Given the description of an element on the screen output the (x, y) to click on. 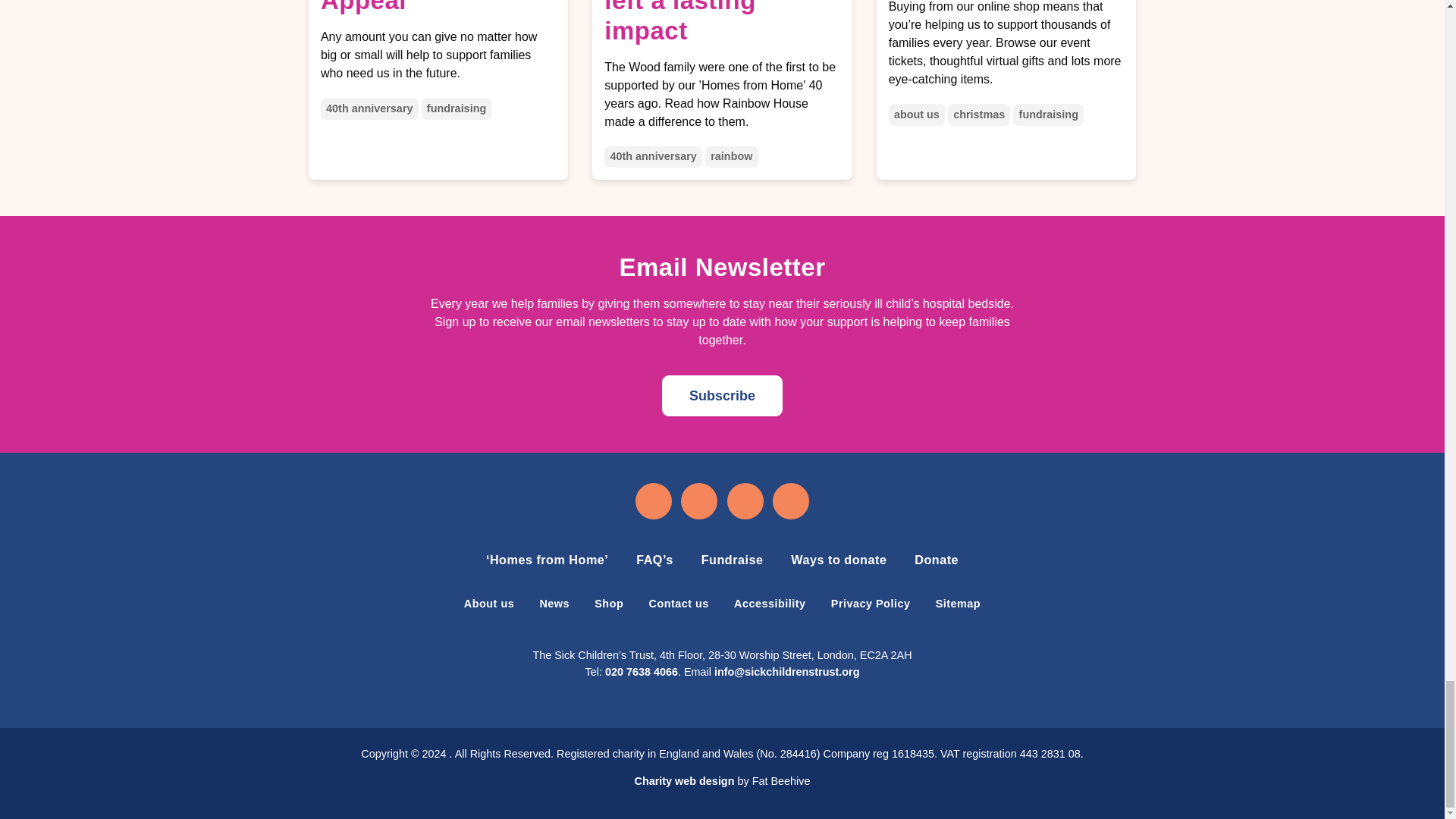
Facebook (652, 500)
Twitter (745, 500)
Instagram (699, 500)
Youtube (790, 500)
